Given the description of an element on the screen output the (x, y) to click on. 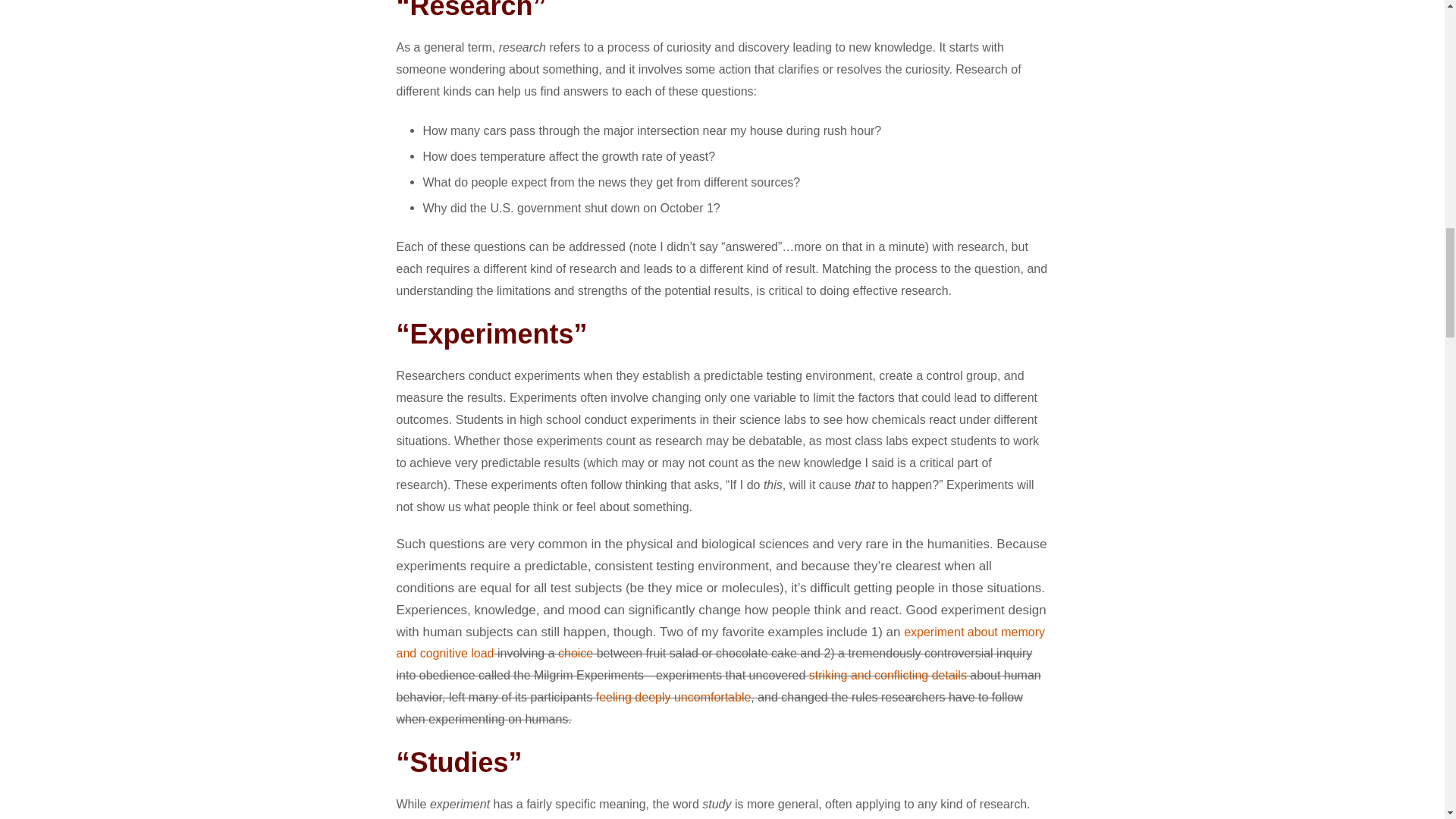
experiment about memory and cognitive load (720, 642)
feeling deeply uncomfortable (673, 697)
choice (574, 653)
striking and conflicting details (887, 675)
